Given the description of an element on the screen output the (x, y) to click on. 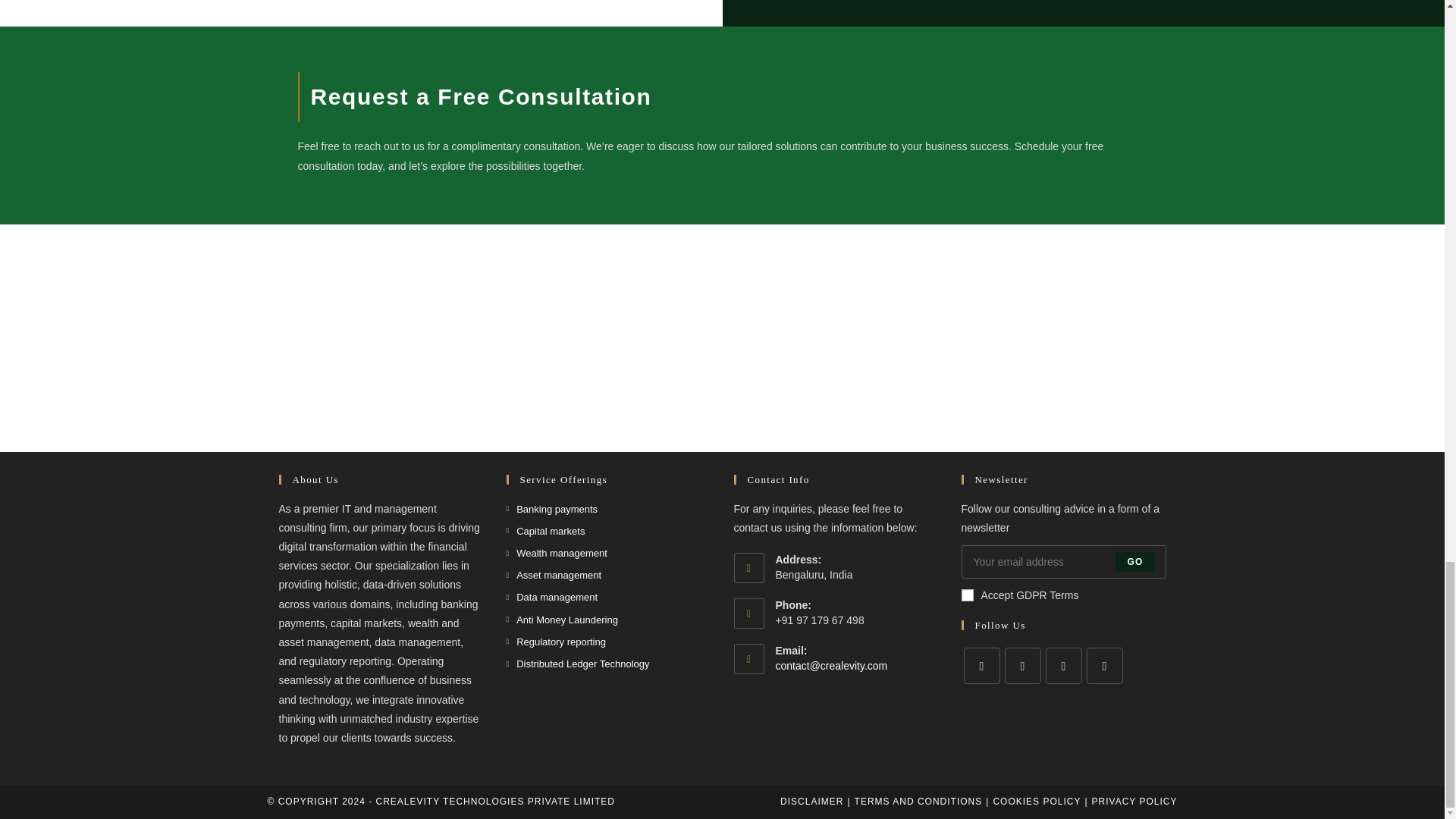
TERMS AND CONDITIONS (918, 801)
Anti Money Laundering (561, 619)
Banking payments (552, 508)
Distributed Ledger Technology (577, 663)
COOKIES POLICY (1036, 801)
Regulatory reporting (555, 641)
Data management (552, 597)
DISCLAIMER (811, 801)
Asset management (554, 574)
1 (967, 594)
Capital markets (545, 530)
PRIVACY POLICY (1134, 801)
GO (1134, 561)
Wealth management (556, 552)
